Given the description of an element on the screen output the (x, y) to click on. 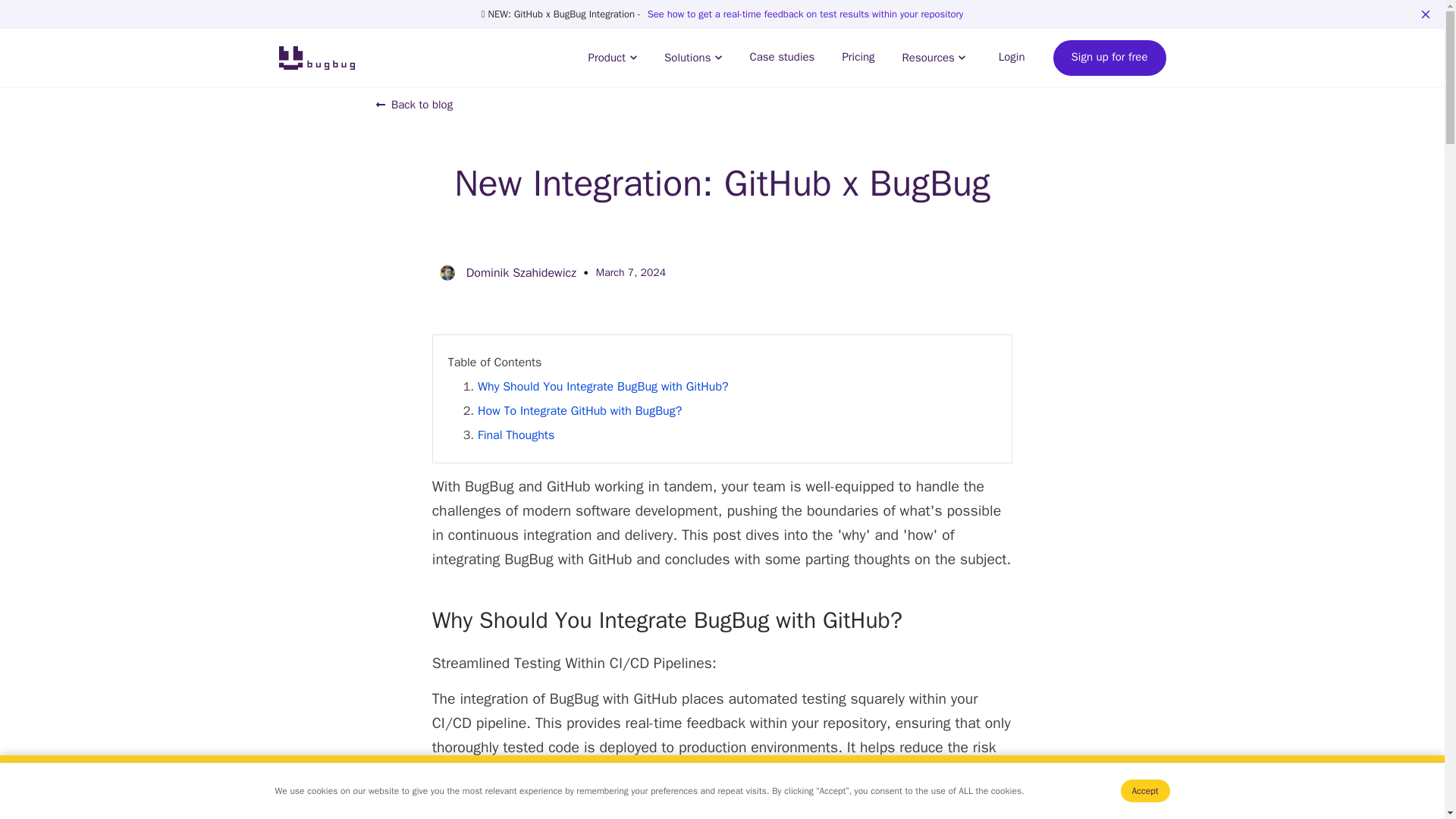
Resources (933, 57)
Case studies (781, 57)
Login (1011, 57)
Sign up for free (1109, 58)
Pricing (857, 57)
Solutions (692, 57)
Product (611, 57)
How To Integrate GitHub with BugBug? (579, 410)
Back to blog (415, 104)
Why Should You Integrate BugBug with GitHub? (603, 386)
Final Thoughts (515, 435)
